Given the description of an element on the screen output the (x, y) to click on. 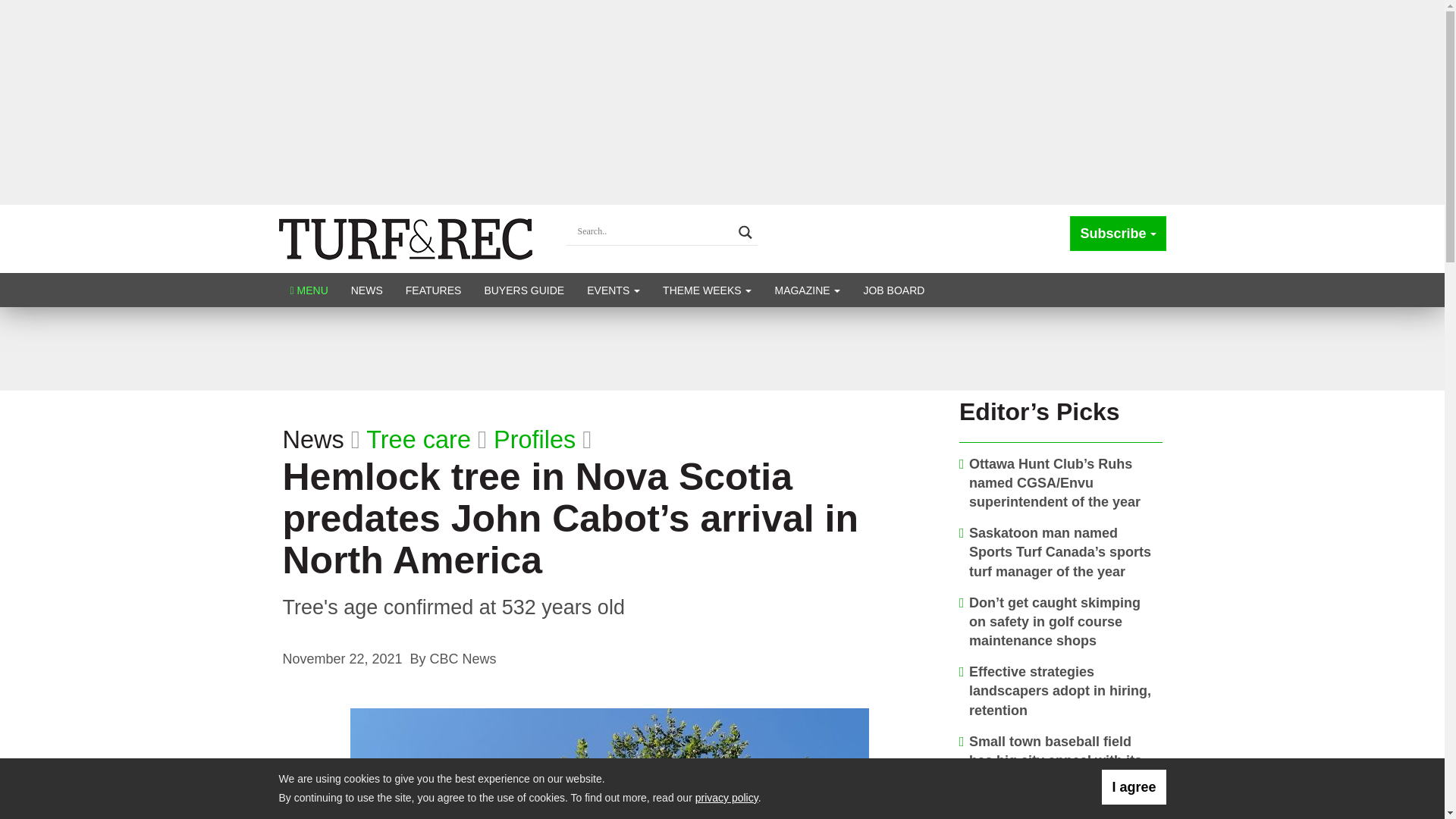
Subscribe (1118, 233)
MAGAZINE (806, 289)
EVENTS (612, 289)
FEATURES (433, 289)
JOB BOARD (893, 289)
3rd party ad content (721, 348)
BUYERS GUIDE (523, 289)
MENU (309, 289)
Click to show site navigation (309, 289)
THEME WEEKS (706, 289)
NEWS (366, 289)
